Given the description of an element on the screen output the (x, y) to click on. 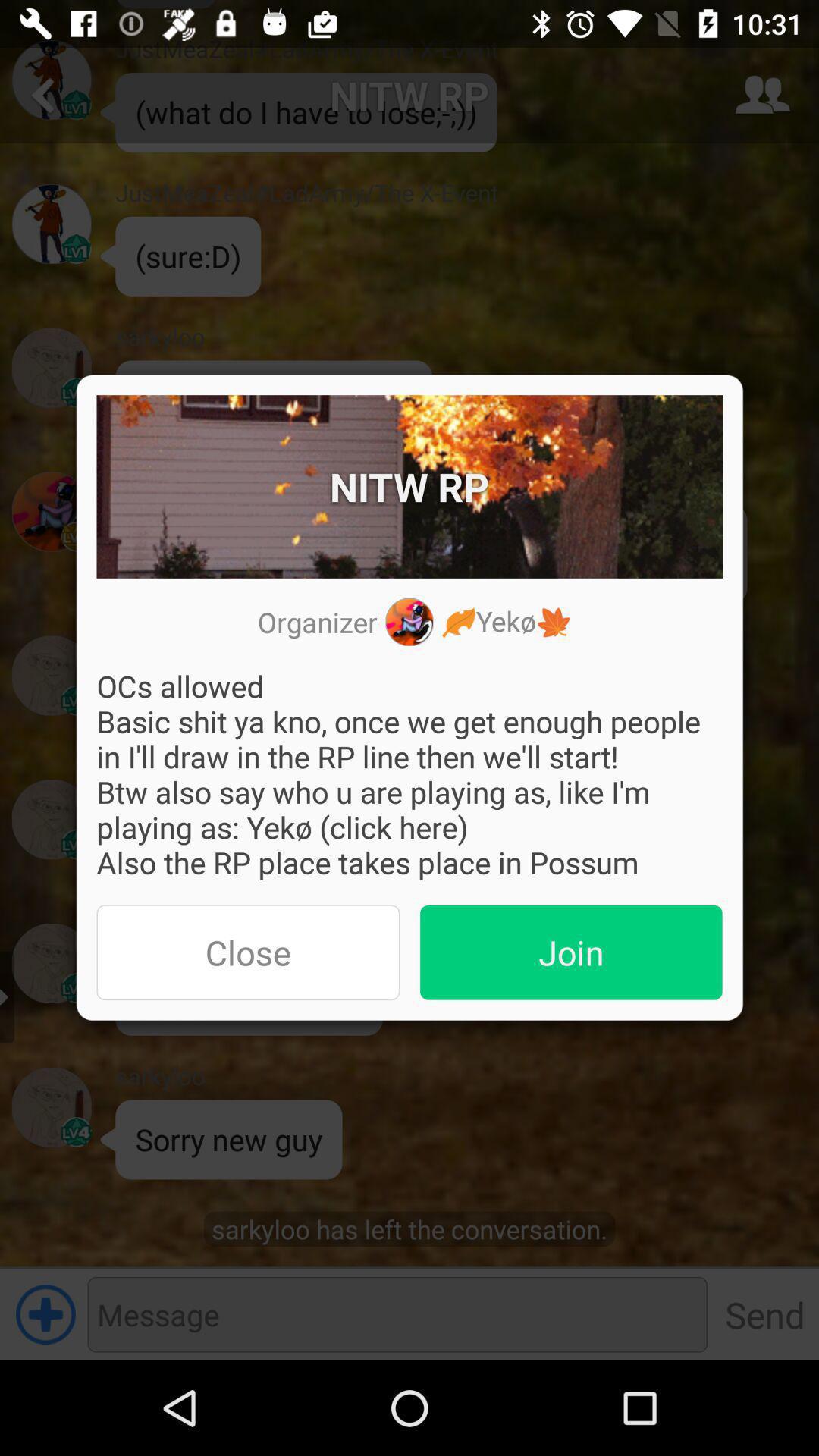
turn off the join (570, 952)
